Given the description of an element on the screen output the (x, y) to click on. 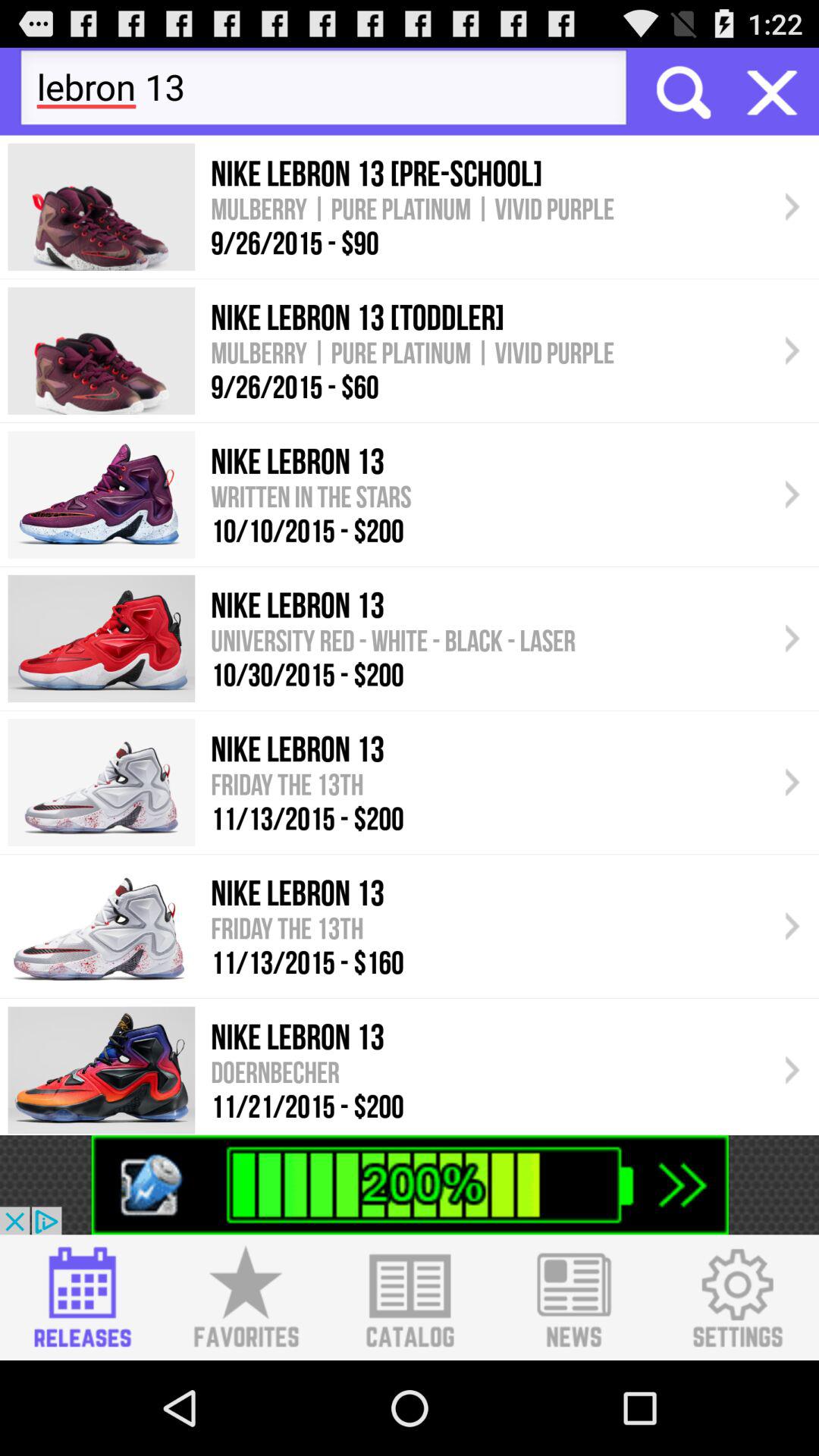
releases sharing the information (81, 1297)
